Given the description of an element on the screen output the (x, y) to click on. 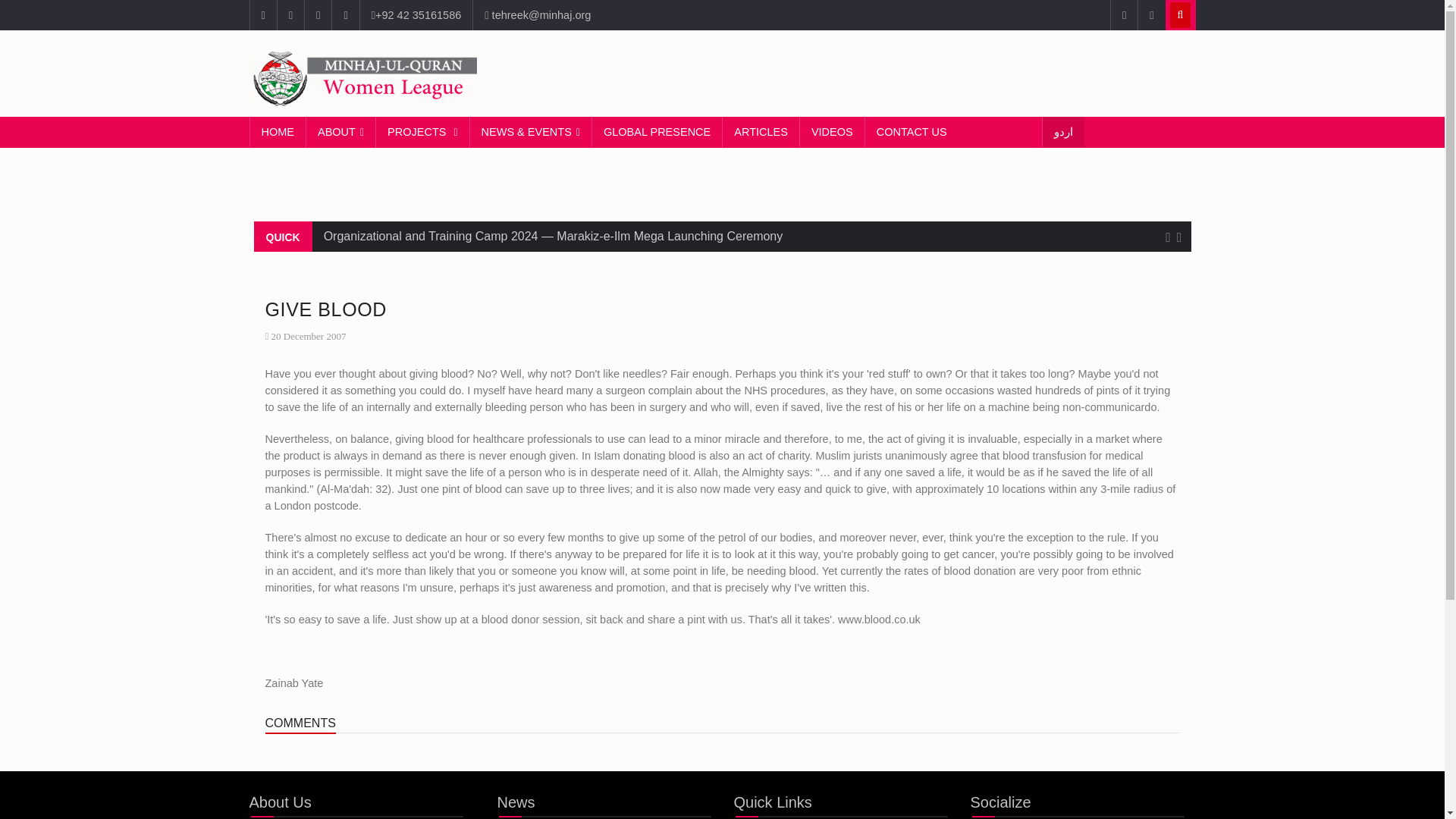
HOME (277, 132)
PROJECTS (421, 132)
ABOUT (340, 132)
Search... (1179, 15)
